Given the description of an element on the screen output the (x, y) to click on. 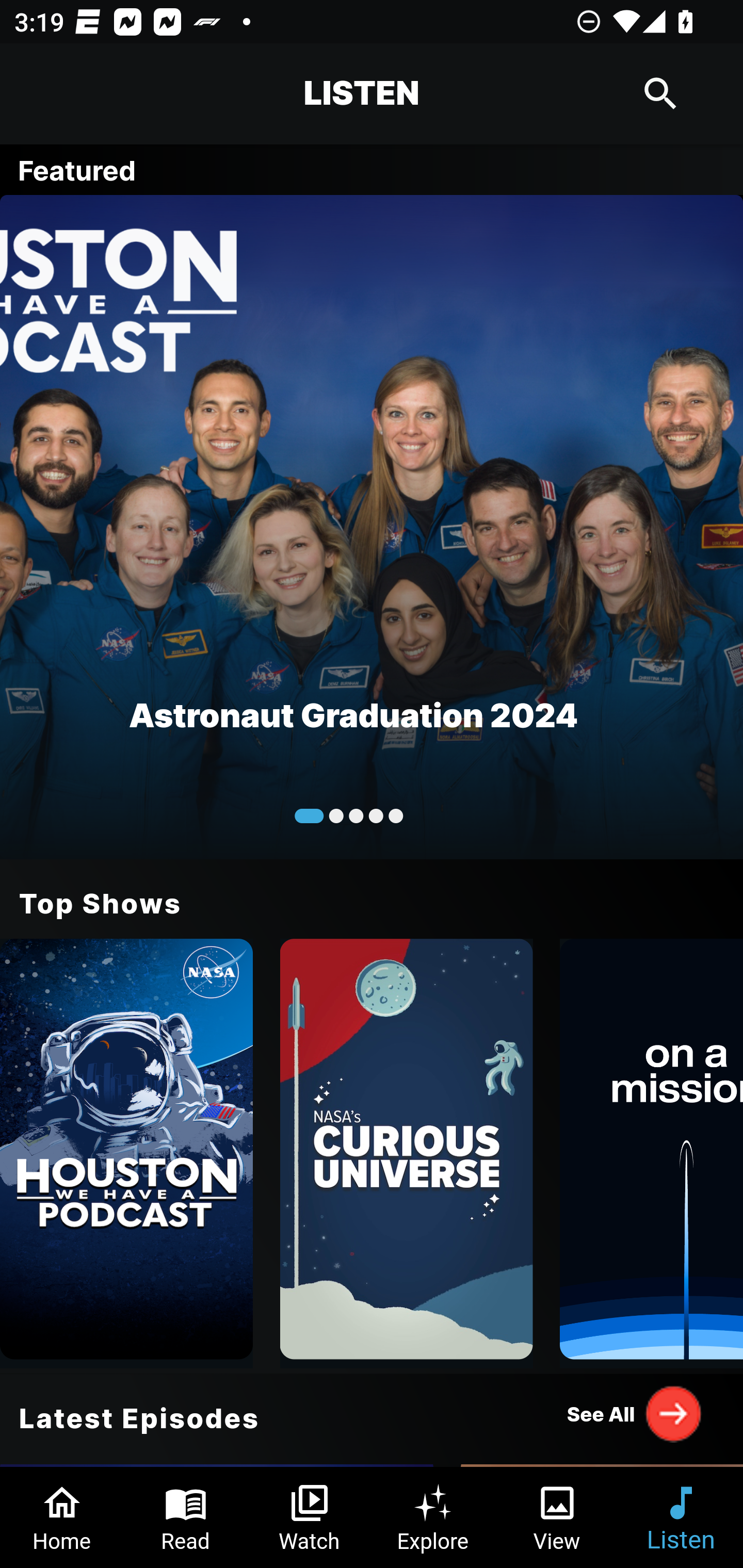
Astronaut Graduation 2024 (371, 526)
See All (634, 1413)
Home
Tab 1 of 6 (62, 1517)
Read
Tab 2 of 6 (185, 1517)
Watch
Tab 3 of 6 (309, 1517)
Explore
Tab 4 of 6 (433, 1517)
View
Tab 5 of 6 (556, 1517)
Listen
Tab 6 of 6 (680, 1517)
